Given the description of an element on the screen output the (x, y) to click on. 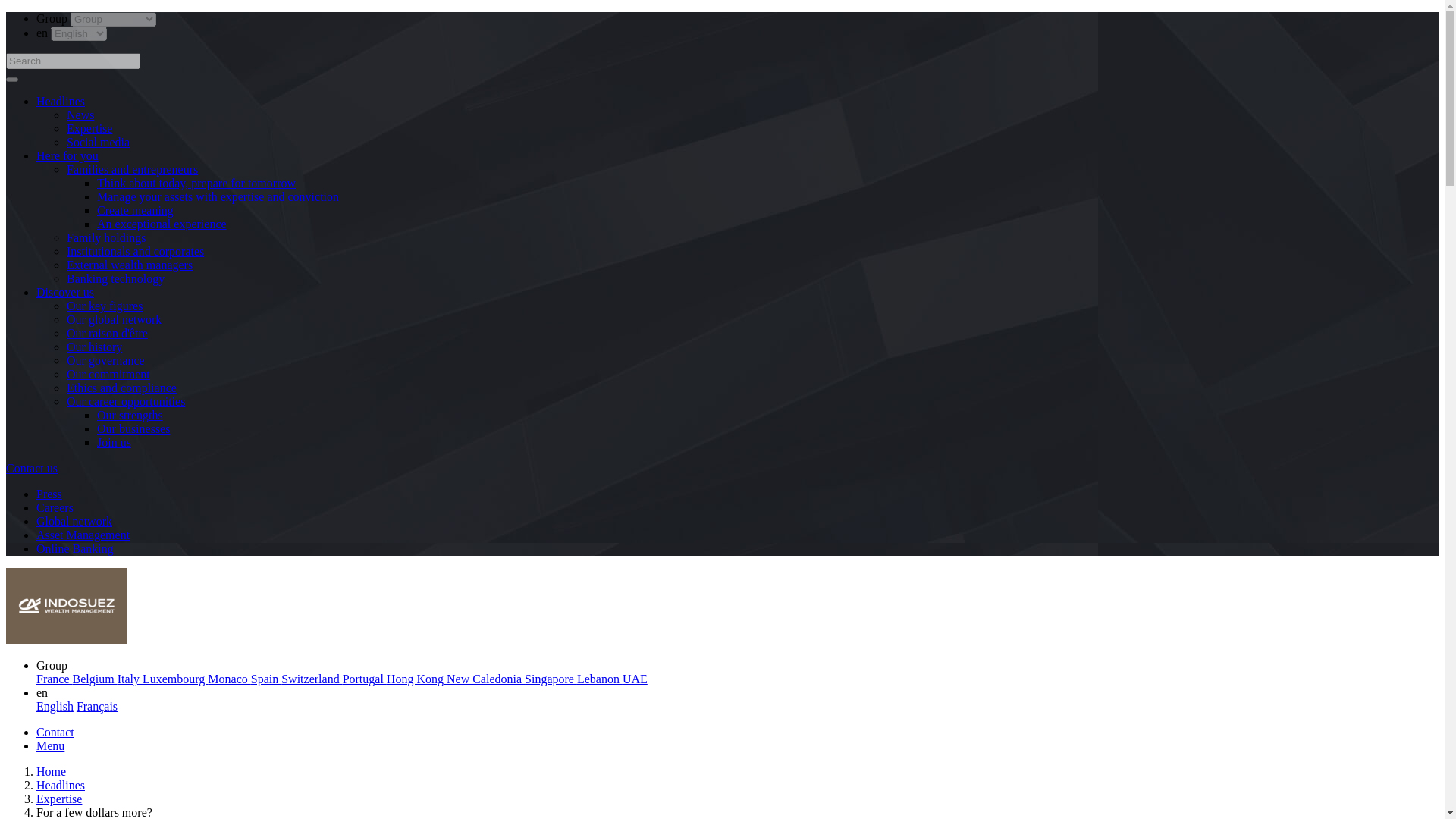
Social media (97, 141)
Family holdings (105, 237)
Banking technology (115, 278)
Manage your assets with expertise and conviction (218, 196)
Careers (55, 507)
France (54, 678)
Think about today, prepare for tomorrow (196, 182)
An exceptional experience (162, 223)
Contact us (31, 468)
Online Banking (74, 548)
